Given the description of an element on the screen output the (x, y) to click on. 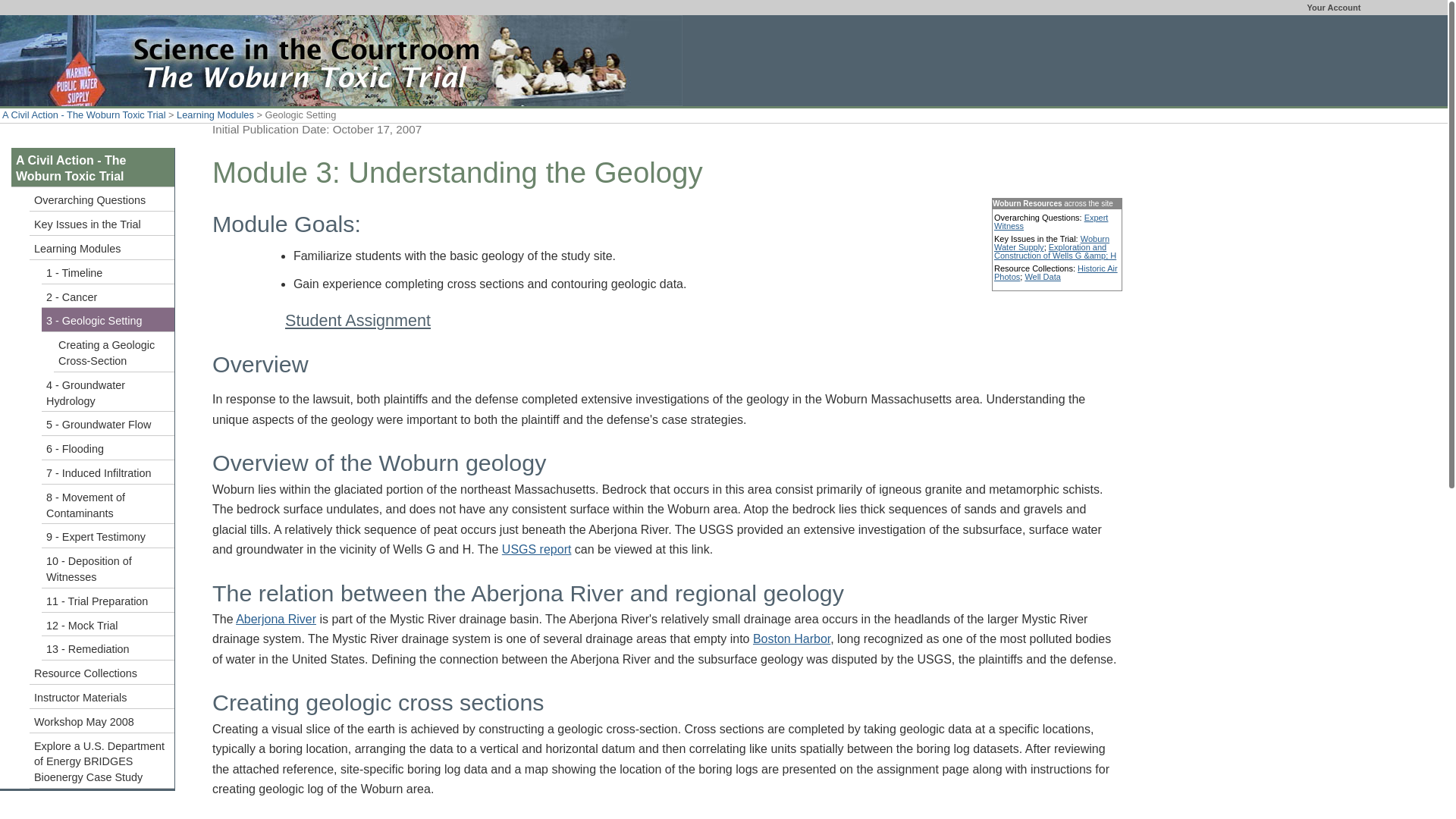
Key Issues in the Trial (101, 223)
Student Assignment (357, 320)
13 - Remediation (108, 648)
1 - Timeline (108, 272)
Aberjona River (275, 618)
6 - Flooding (108, 447)
Learning Modules (101, 247)
5 - Groundwater Flow (108, 423)
2 - Cancer (108, 296)
Historic Air Photos (1056, 272)
3 - Geologic Setting (108, 319)
USGS report (537, 549)
10 - Deposition of Witnesses (108, 567)
A Civil Action - The Woburn Toxic Trial (92, 168)
A Civil Action - The Woburn Toxic Trial (83, 114)
